Given the description of an element on the screen output the (x, y) to click on. 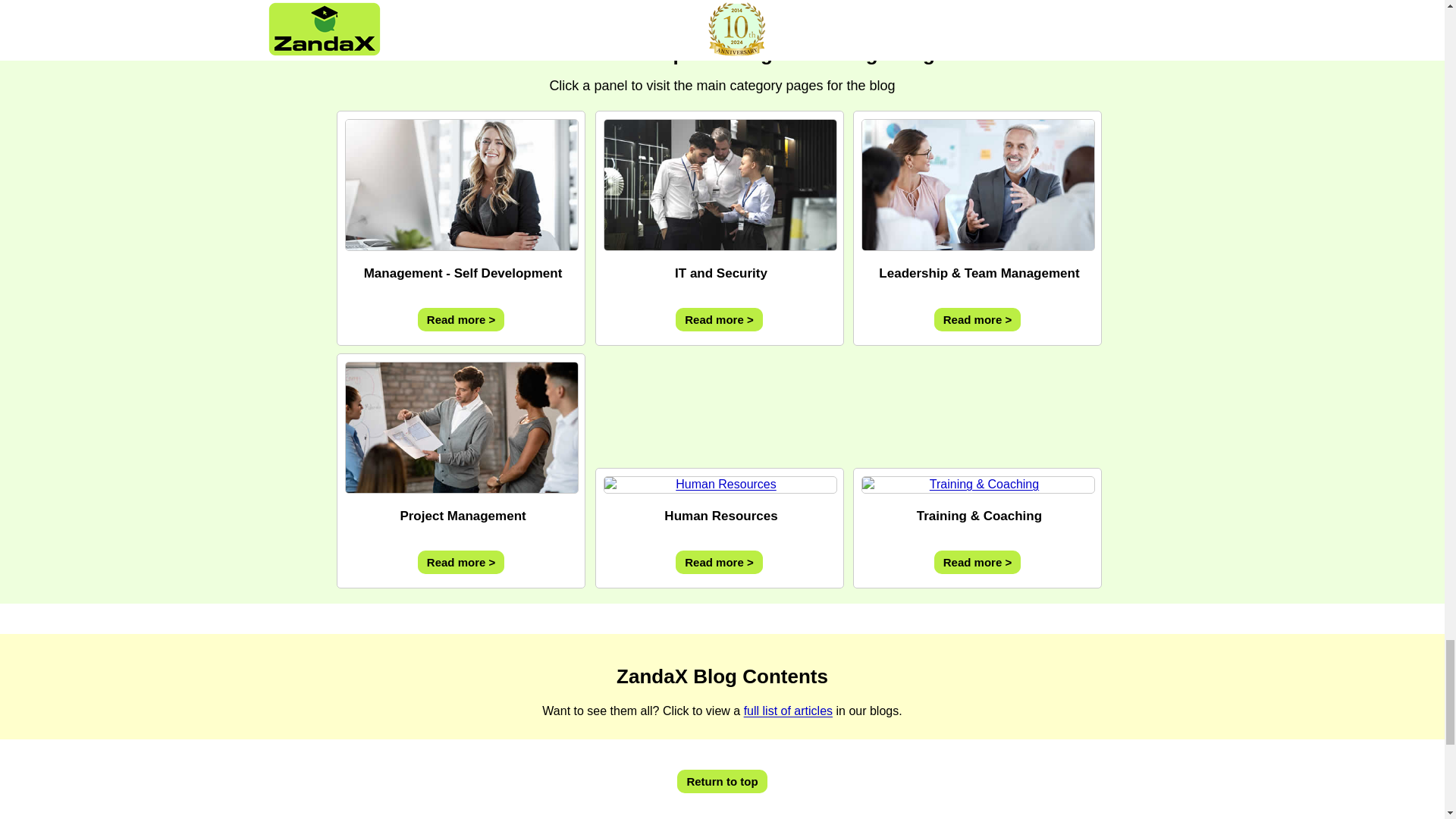
full list of articles (788, 710)
Return to top (722, 781)
Return to top (722, 781)
